Given the description of an element on the screen output the (x, y) to click on. 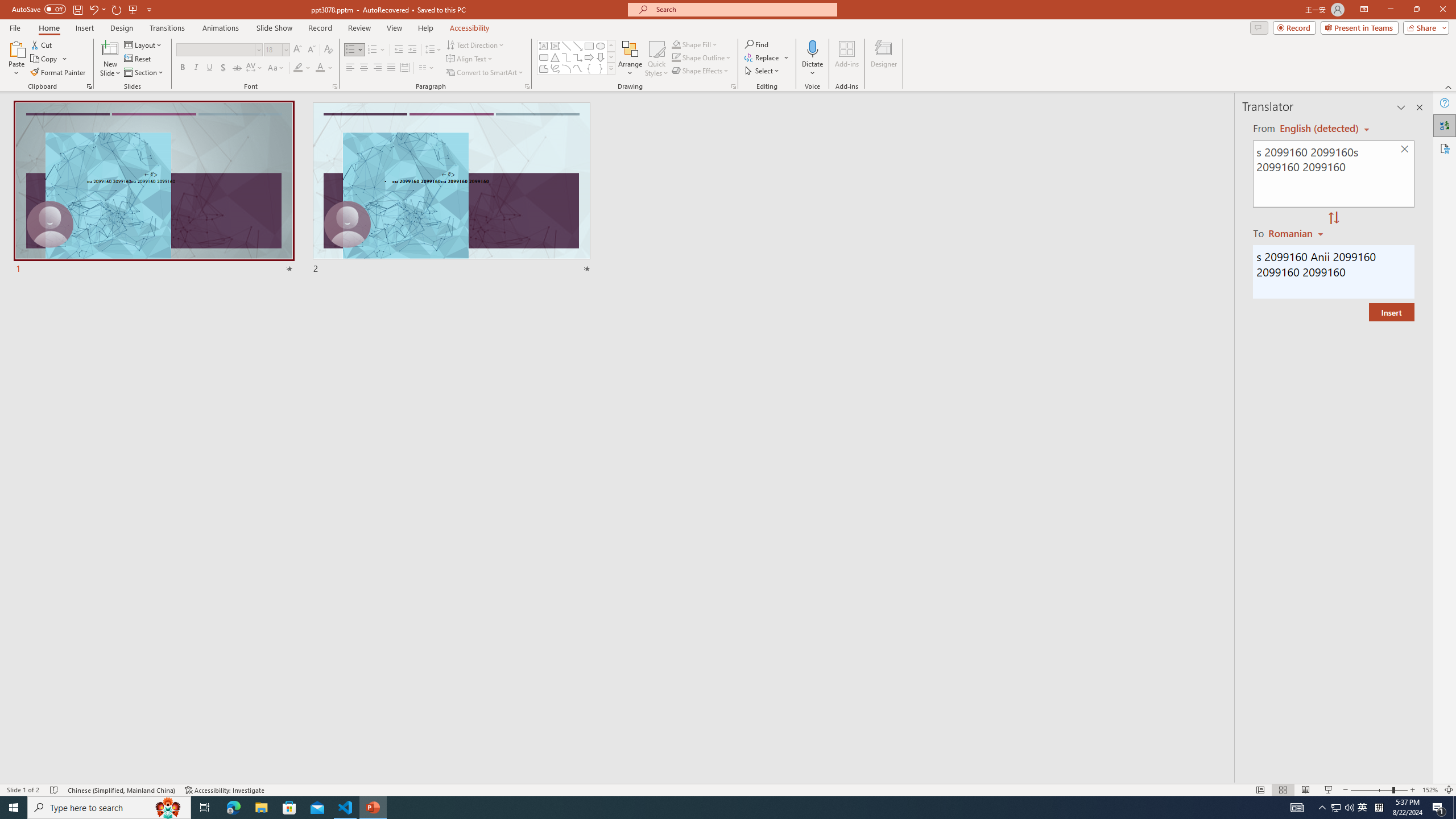
Swap "from" and "to" languages. (1333, 218)
